Given the description of an element on the screen output the (x, y) to click on. 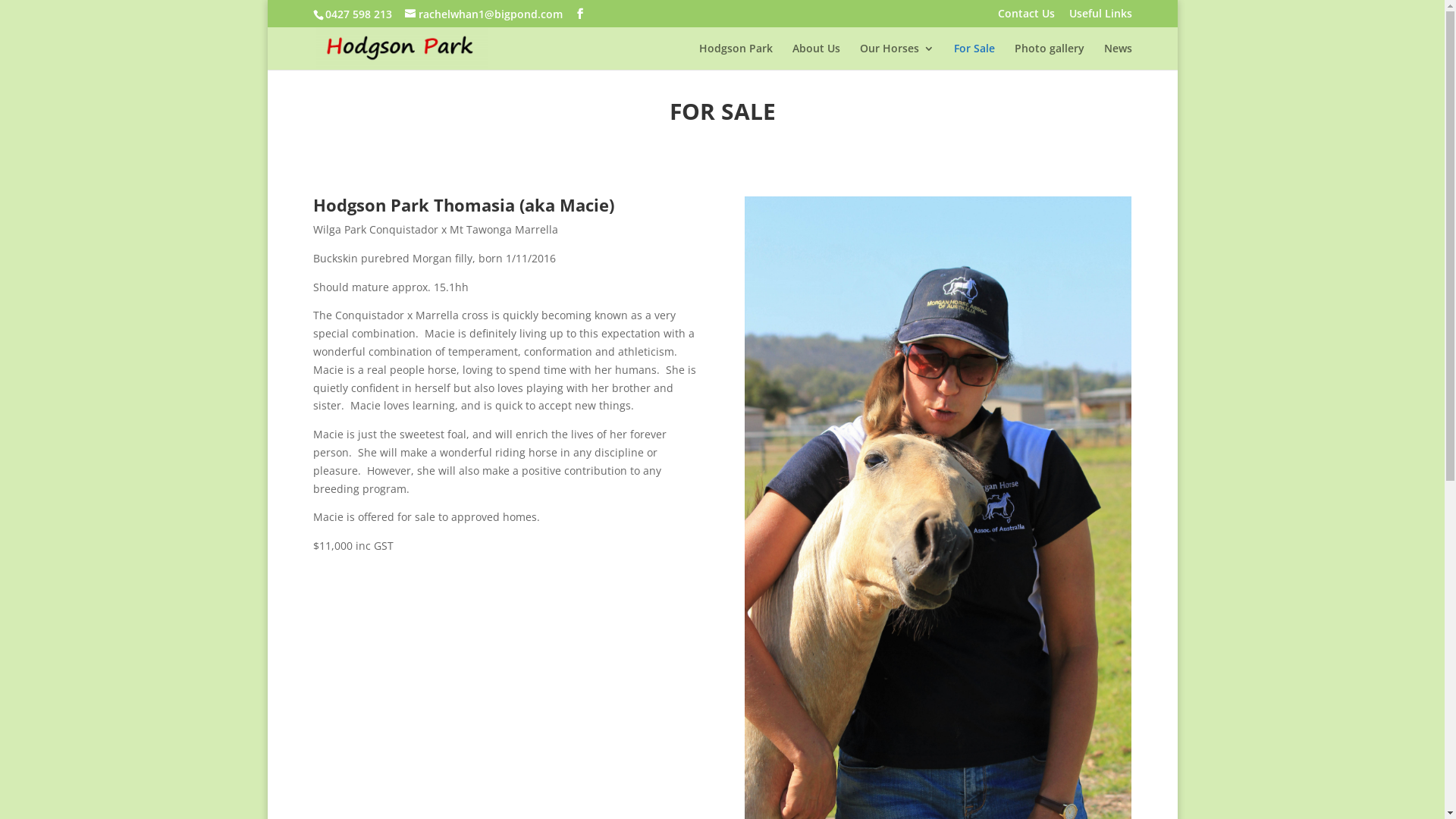
HP-Thomasia-3months Element type: hover (937, 468)
2 Element type: text (931, 442)
Our Horses Element type: text (896, 56)
For Sale Element type: text (973, 56)
Contact Us Element type: text (1025, 16)
News Element type: text (1118, 56)
Hodgson Park Element type: text (735, 56)
4 Element type: text (957, 442)
3 Element type: text (944, 442)
About Us Element type: text (815, 56)
Photo gallery Element type: text (1049, 56)
rachelwhan1@bigpond.com Element type: text (483, 13)
1 Element type: text (918, 442)
Useful Links Element type: text (1100, 16)
